Given the description of an element on the screen output the (x, y) to click on. 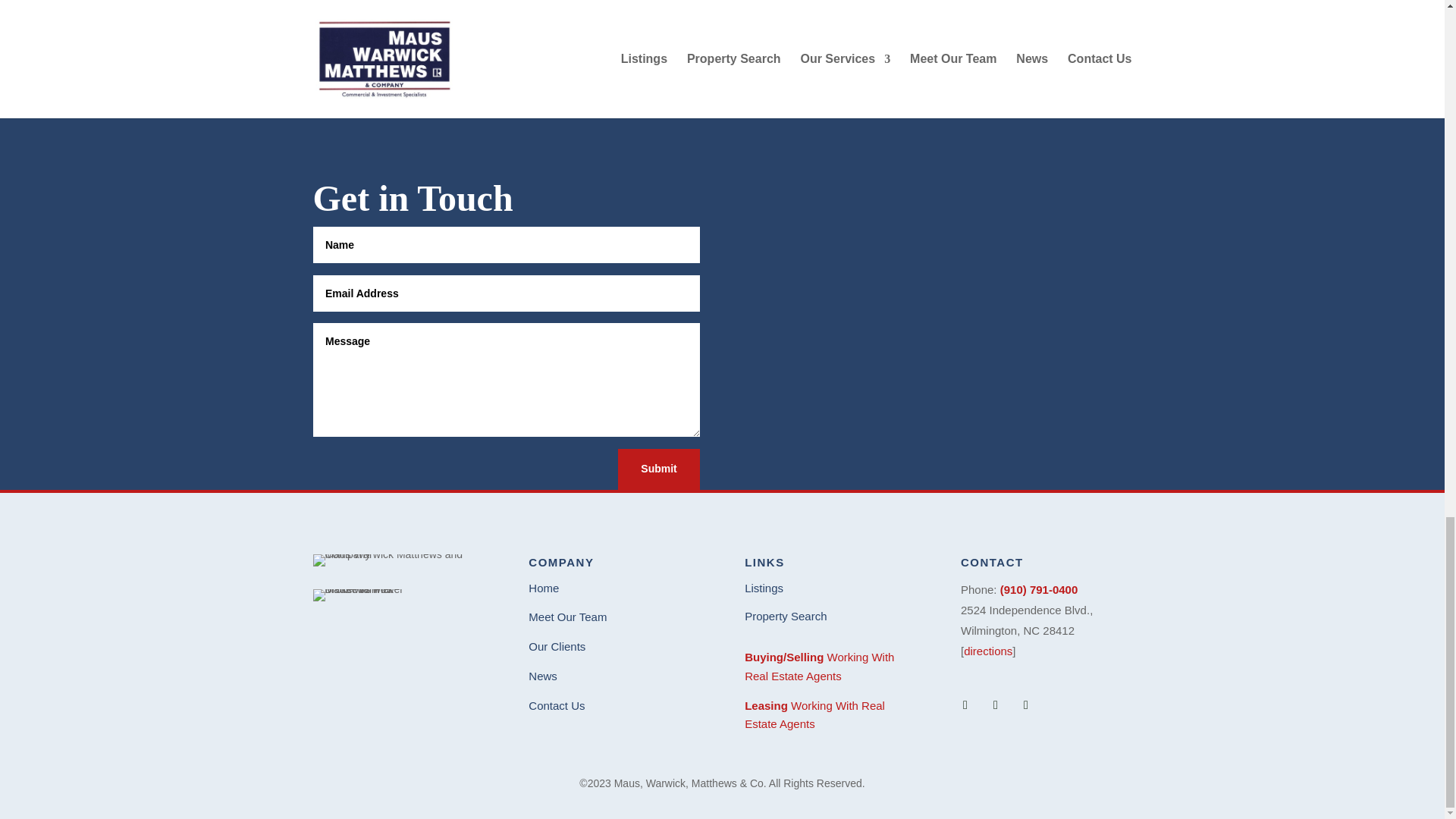
Follow on Instagram (1025, 704)
Submit (657, 468)
Listings (763, 587)
Meet Our Team (567, 616)
Leasing Working With Real Estate Agents (814, 715)
Follow on LinkedIn (995, 704)
MWM-Wilmington-NC-contact (1030, 70)
Follow on Facebook (964, 704)
Home (543, 587)
logo-mwm (398, 560)
